Given the description of an element on the screen output the (x, y) to click on. 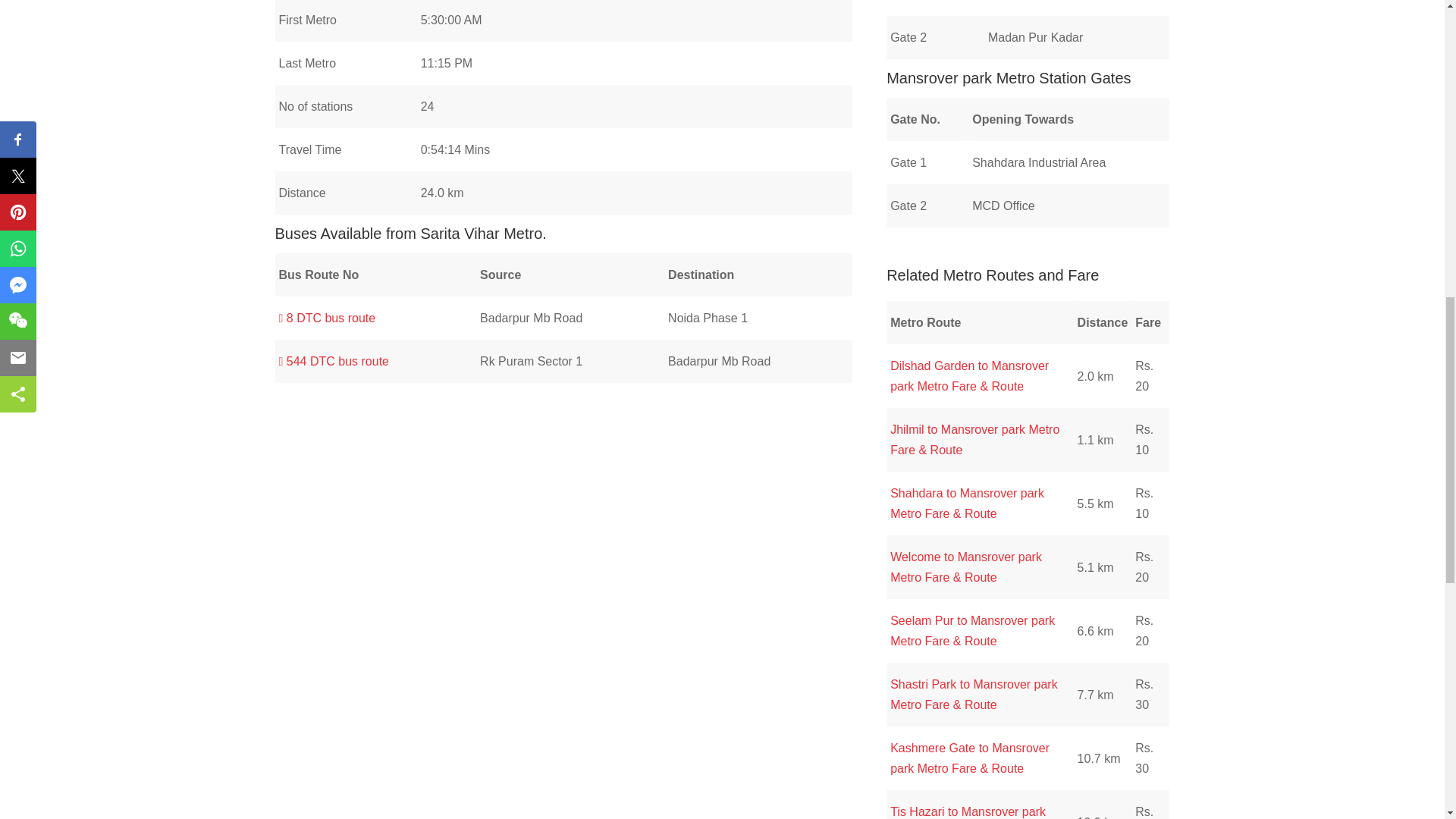
8 DTC bus route (327, 318)
544 DTC bus route (333, 360)
